Given the description of an element on the screen output the (x, y) to click on. 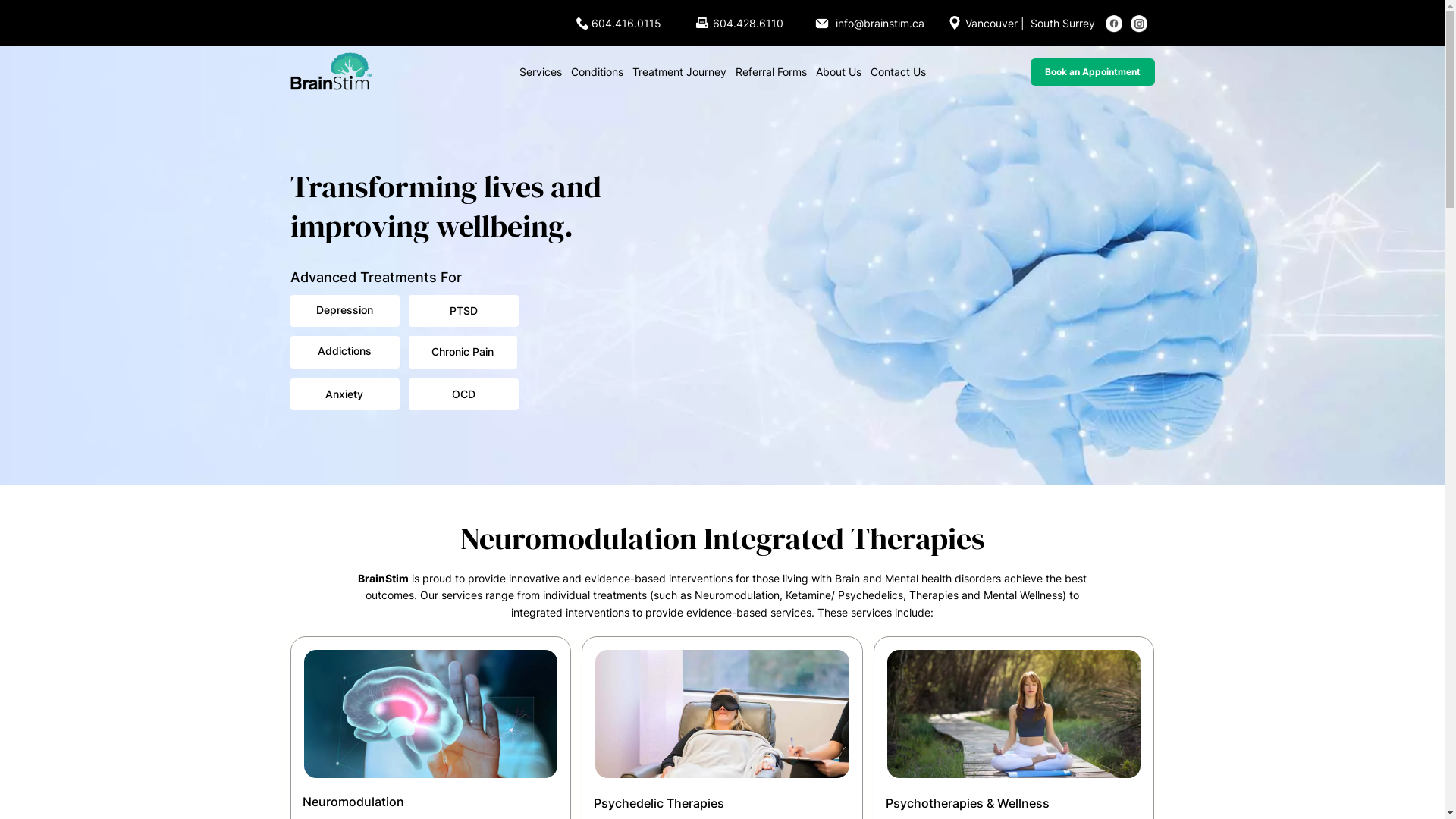
Vancouver |  South Surrey  Element type: text (1031, 22)
Referral Forms Element type: text (771, 71)
604.428.6110 Element type: text (747, 22)
Home Element type: hover (330, 71)
Anxiety Element type: text (343, 394)
Contact Us Element type: text (898, 71)
Conditions Element type: text (596, 71)
Chronic Pain Element type: text (462, 351)
OCD Element type: text (463, 394)
604.416.0115 Element type: text (626, 22)
PTSD Element type: text (463, 310)
About Us Element type: text (838, 71)
Treatment Journey Element type: text (679, 71)
Depression Element type: text (343, 310)
Addictions Element type: text (343, 351)
info@brainstim.ca Element type: text (879, 22)
Services Element type: text (539, 71)
Book an Appointment Element type: text (1091, 71)
